Given the description of an element on the screen output the (x, y) to click on. 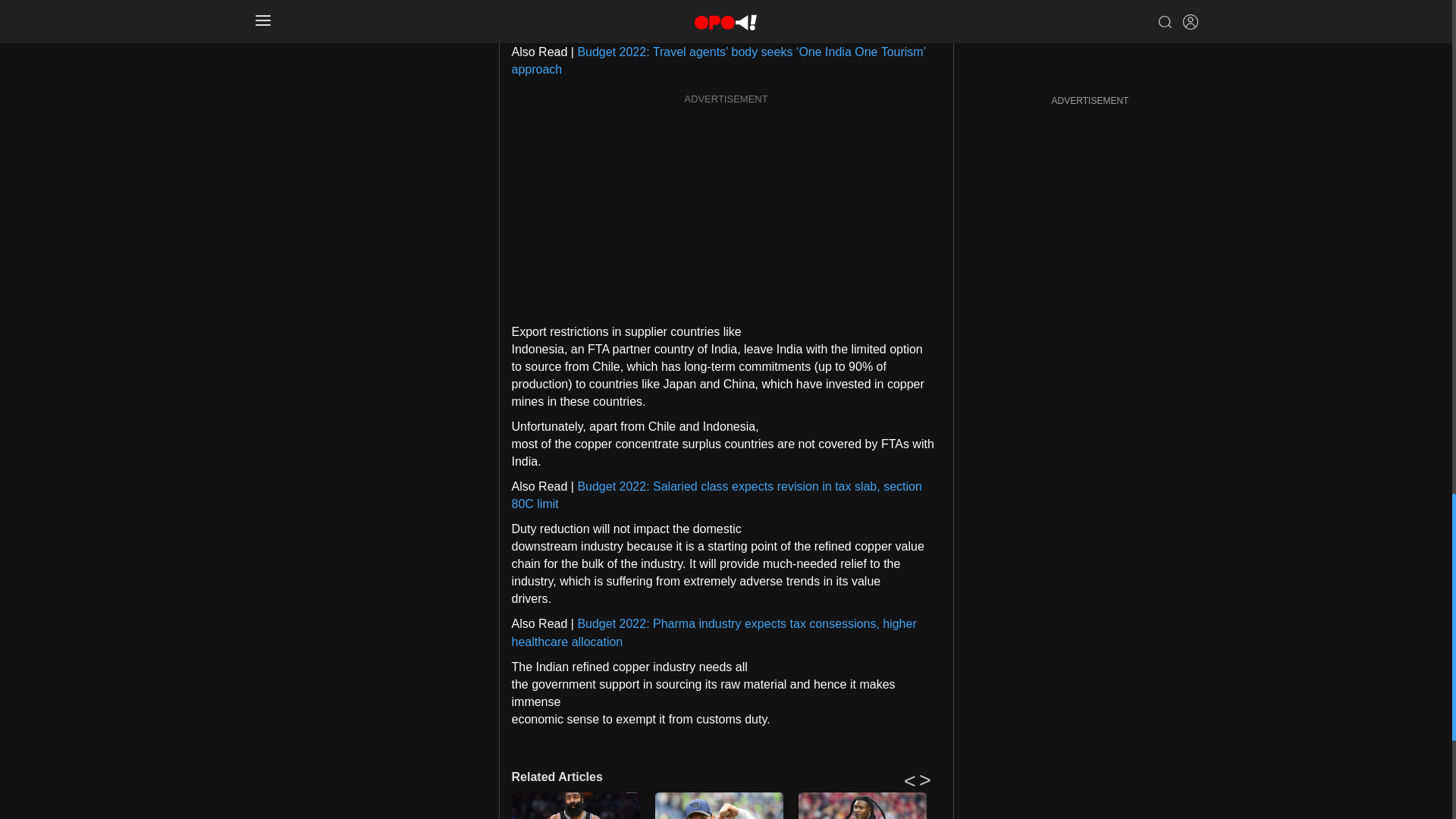
James Harden traded to LA Clippers from Philadelphia 76ers (575, 805)
